Given the description of an element on the screen output the (x, y) to click on. 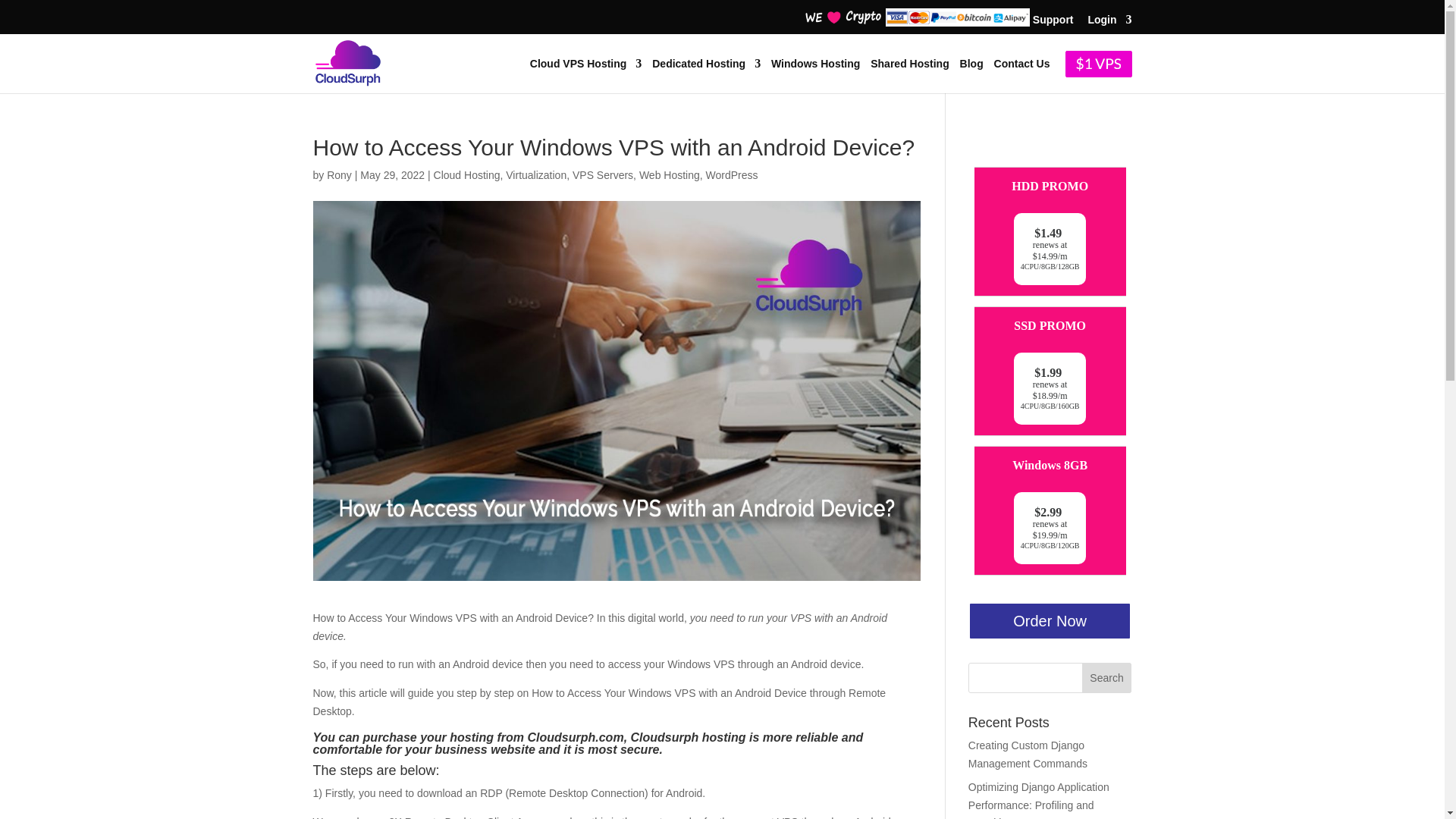
Posts by Rony (339, 174)
Rony (339, 174)
Web Hosting (669, 174)
Contact Us (1021, 74)
Cloud Hosting (466, 174)
Cloud VPS Hosting (585, 74)
Shared Hosting (909, 74)
VPS Servers (602, 174)
Windows Hosting (815, 74)
Search (1106, 677)
Login (1109, 23)
Virtualization (535, 174)
Dedicated Hosting (706, 74)
Support (1053, 23)
